Given the description of an element on the screen output the (x, y) to click on. 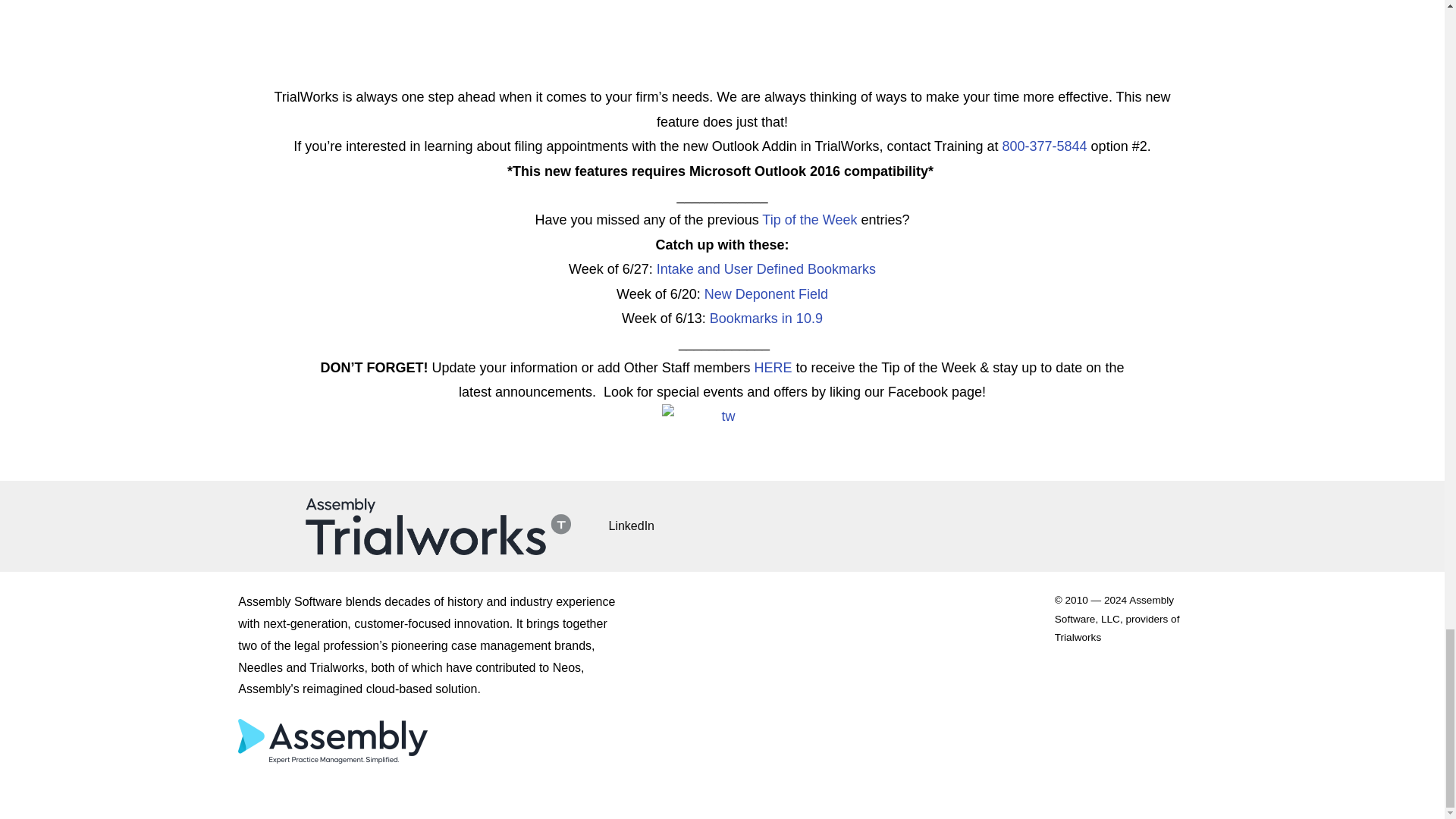
Bookmarks in 10.9 (766, 318)
800-377-5844 (1045, 145)
LinkedIn (640, 525)
Intake and User Defined Bookmarks (766, 268)
New Deponent Field (766, 294)
HERE (773, 367)
Tip of the Week (809, 219)
